Given the description of an element on the screen output the (x, y) to click on. 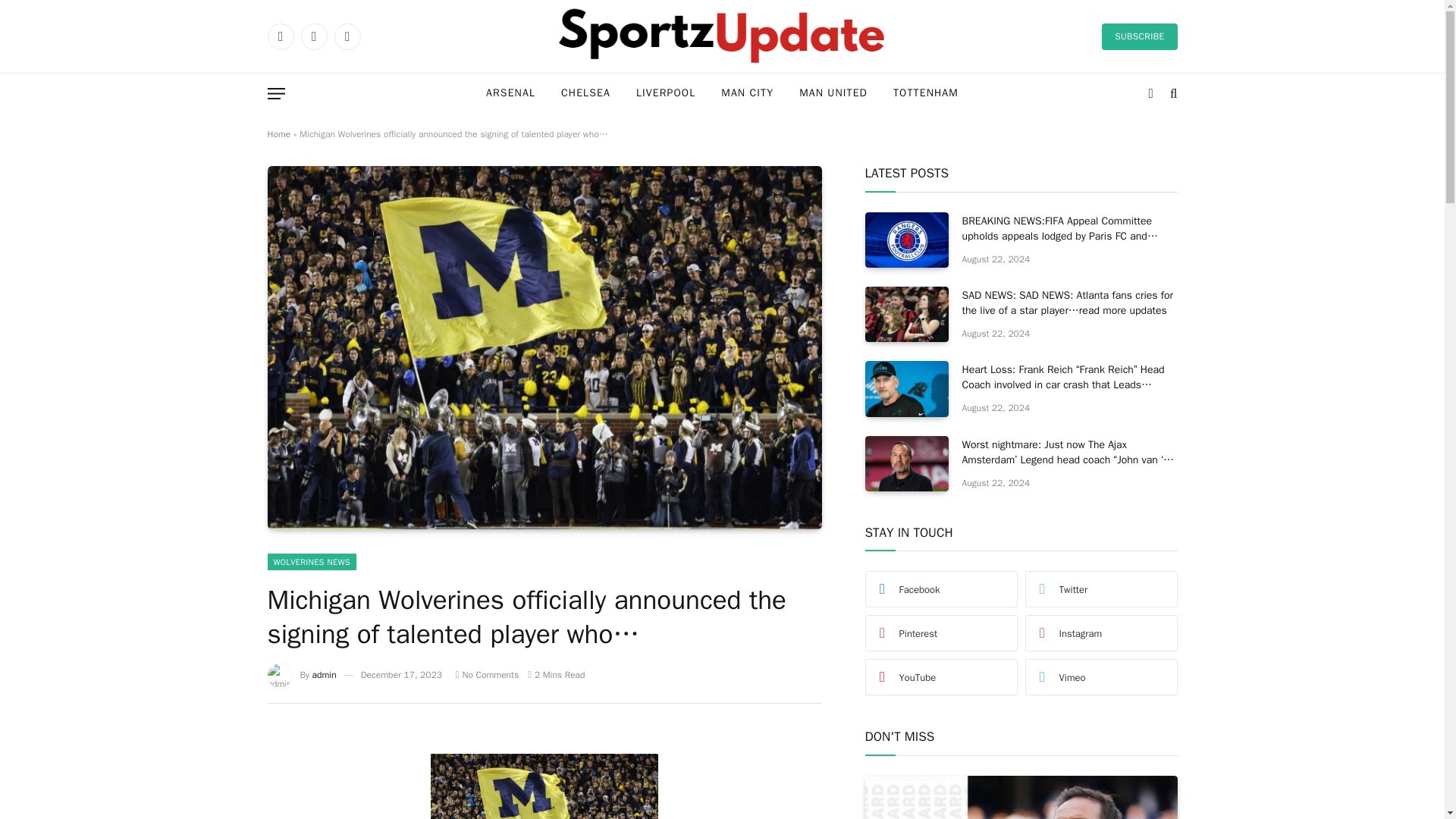
MAN CITY (746, 93)
LIVERPOOL (665, 93)
ARSENAL (510, 93)
MAN UNITED (833, 93)
Instagram (346, 35)
SUBSCRIBE (1139, 35)
TOTTENHAM (925, 93)
Sportzupdate (721, 36)
Posts by admin (324, 674)
Facebook (280, 35)
